Given the description of an element on the screen output the (x, y) to click on. 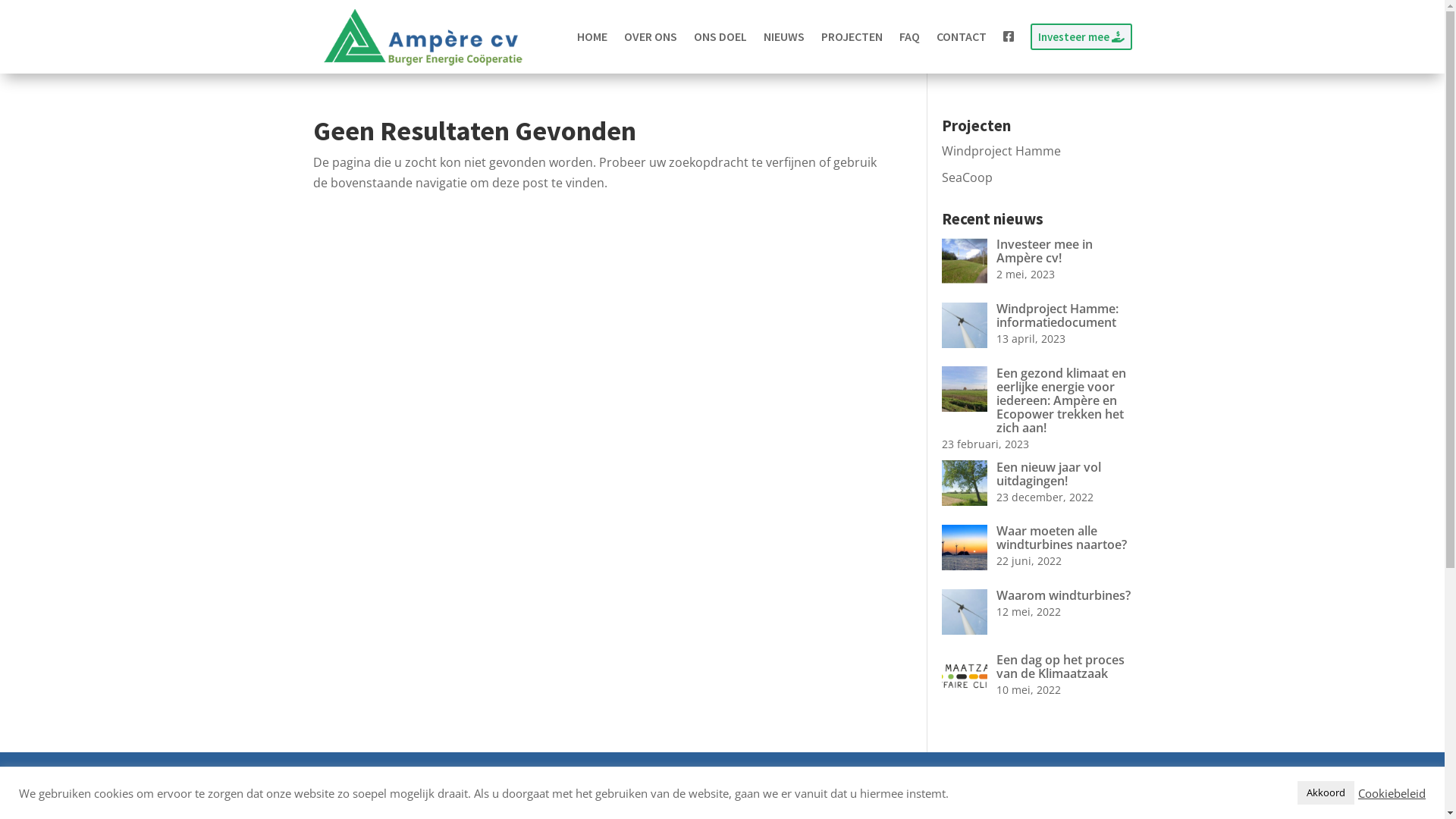
Een dag op het proces van de Klimaatzaak Element type: text (1036, 664)
HOME Element type: text (591, 36)
Een nieuw jaar vol uitdagingen! Element type: text (1036, 472)
Akkoord Element type: text (1325, 792)
ONS DOEL Element type: text (719, 36)
FAQ Element type: text (909, 36)
NIEUWS Element type: text (782, 36)
PROJECTEN Element type: text (850, 36)
Windproject Hamme: informatiedocument Element type: text (1036, 313)
Windproject Hamme Element type: text (1000, 150)
Cookiebeleid Element type: text (1391, 792)
OVER ONS Element type: text (649, 36)
Waar moeten alle windturbines naartoe? Element type: text (1036, 535)
Investeer mee Element type: text (1080, 36)
SeaCoop Element type: text (966, 177)
CONTACT Element type: text (960, 36)
Waarom windturbines? Element type: text (1036, 593)
